Given the description of an element on the screen output the (x, y) to click on. 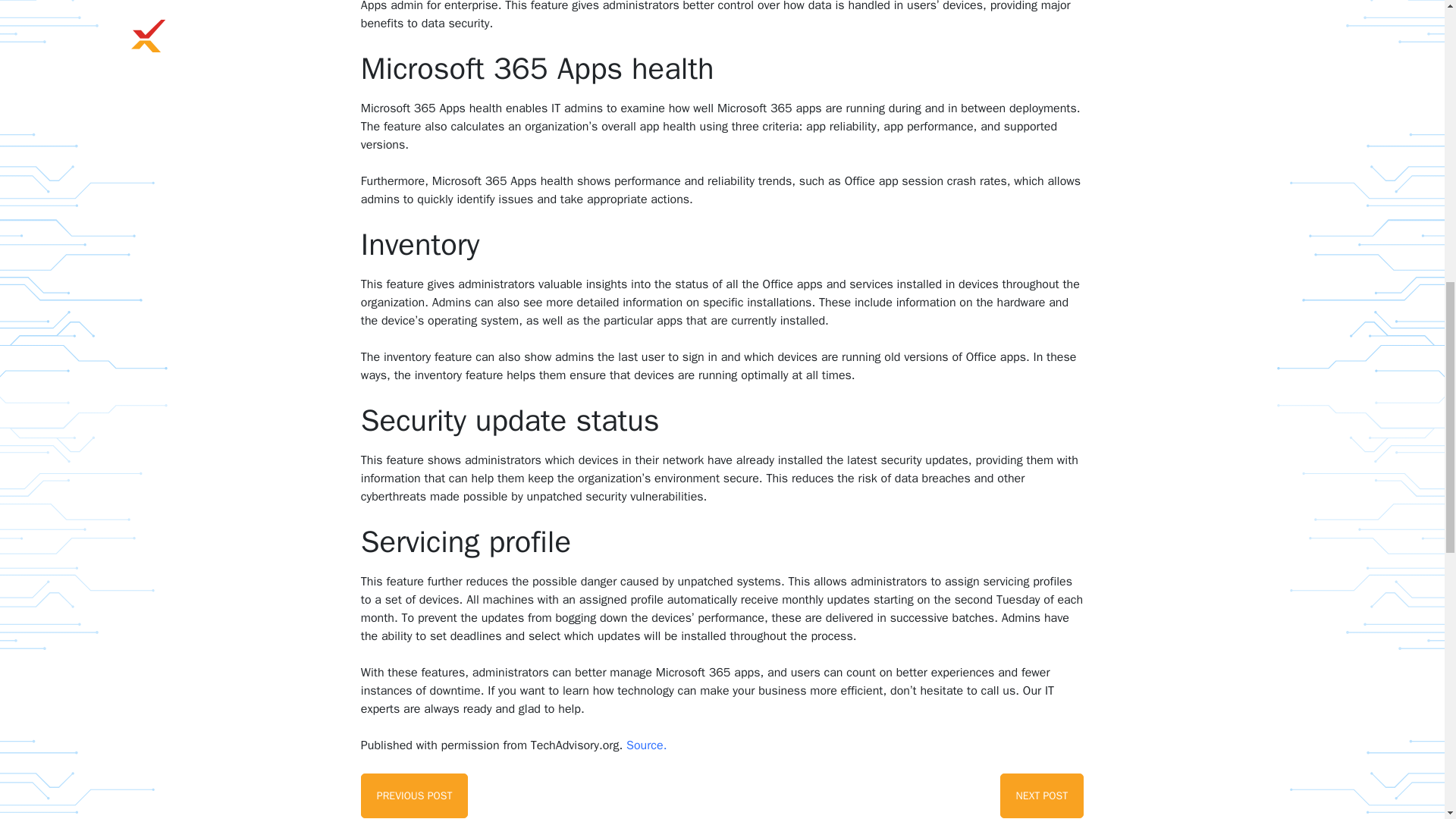
Source. (414, 795)
